Given the description of an element on the screen output the (x, y) to click on. 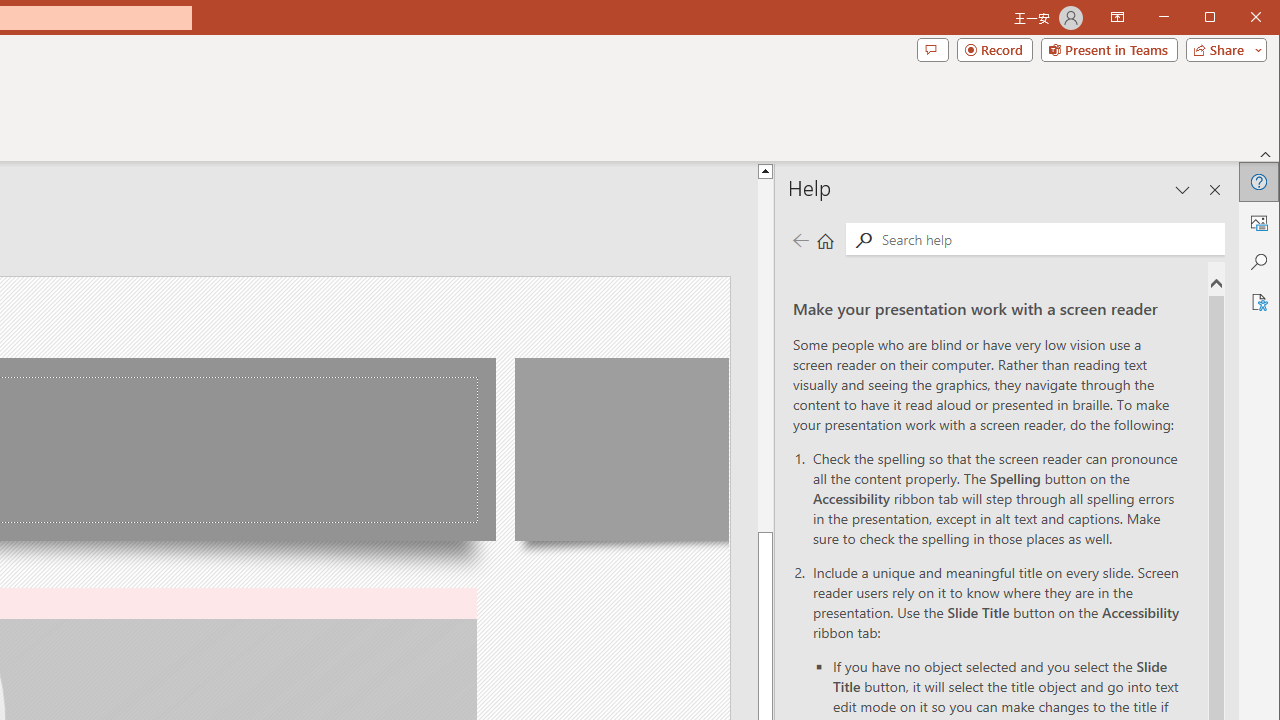
Line up (765, 170)
Close pane (1215, 189)
Search (1258, 261)
Previous page (800, 240)
Accessibility (1258, 301)
Page up (765, 355)
